Given the description of an element on the screen output the (x, y) to click on. 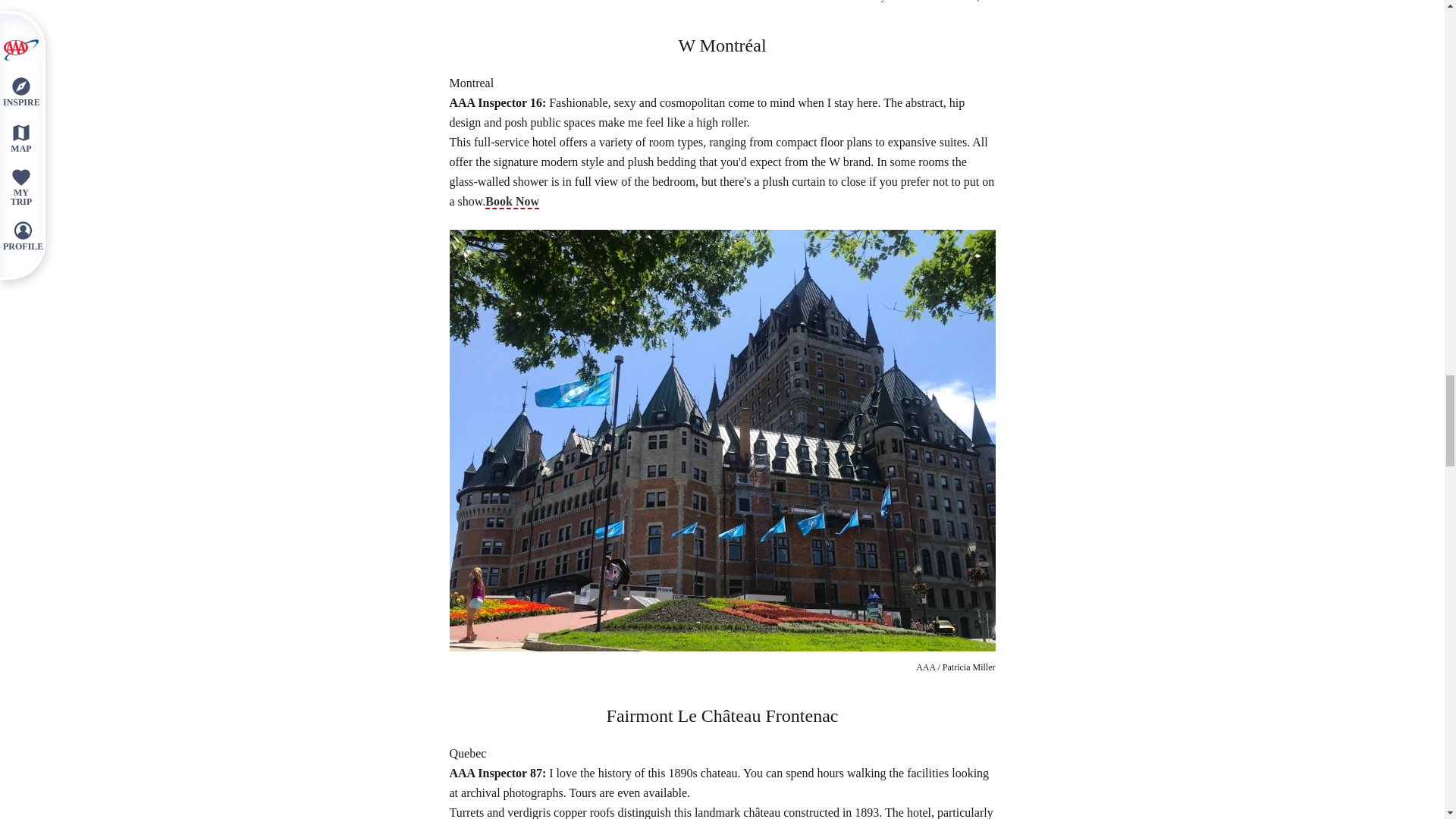
Book Now (511, 201)
